Given the description of an element on the screen output the (x, y) to click on. 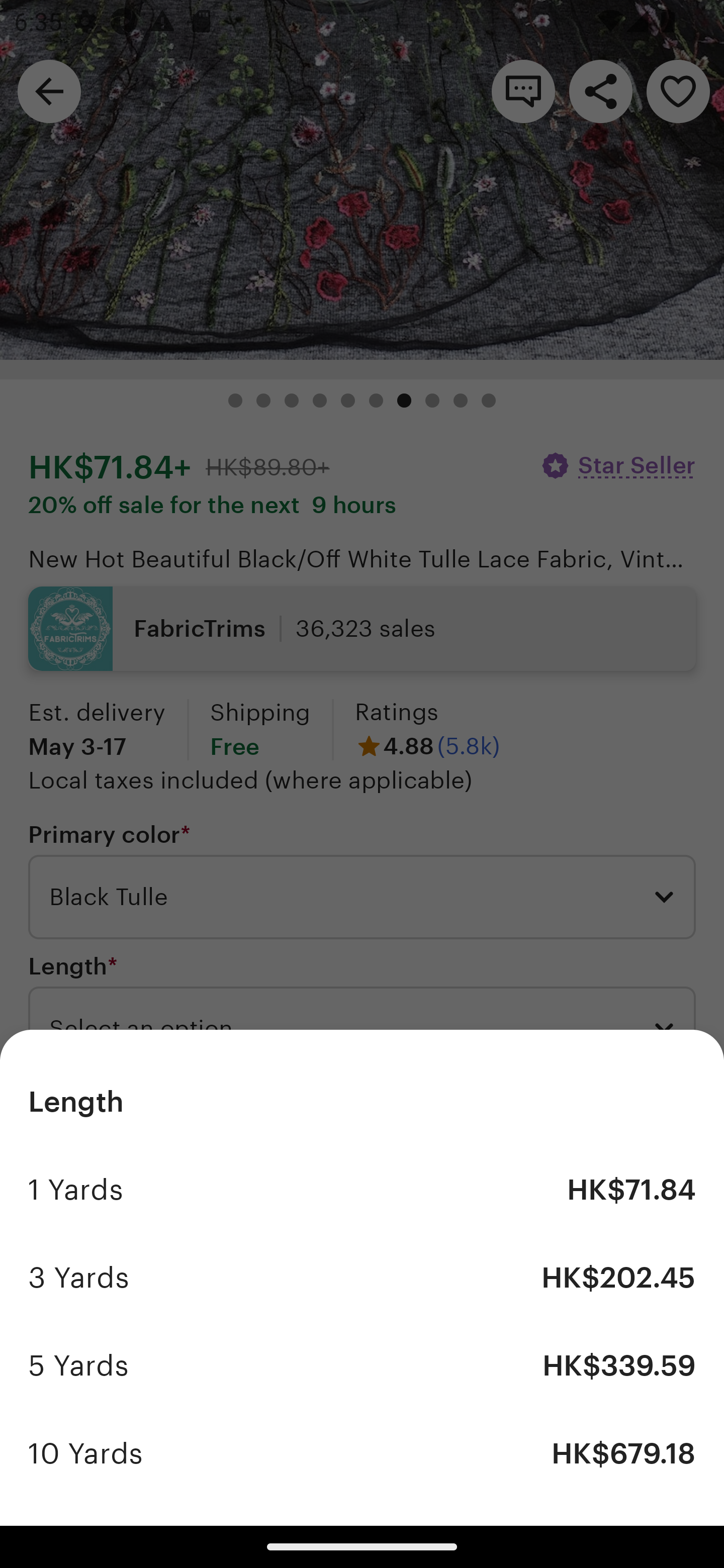
1 Yards HK$71.84 (362, 1190)
3 Yards HK$202.45 (362, 1277)
5 Yards HK$339.59 (362, 1365)
10 Yards HK$679.18 (362, 1453)
